Given the description of an element on the screen output the (x, y) to click on. 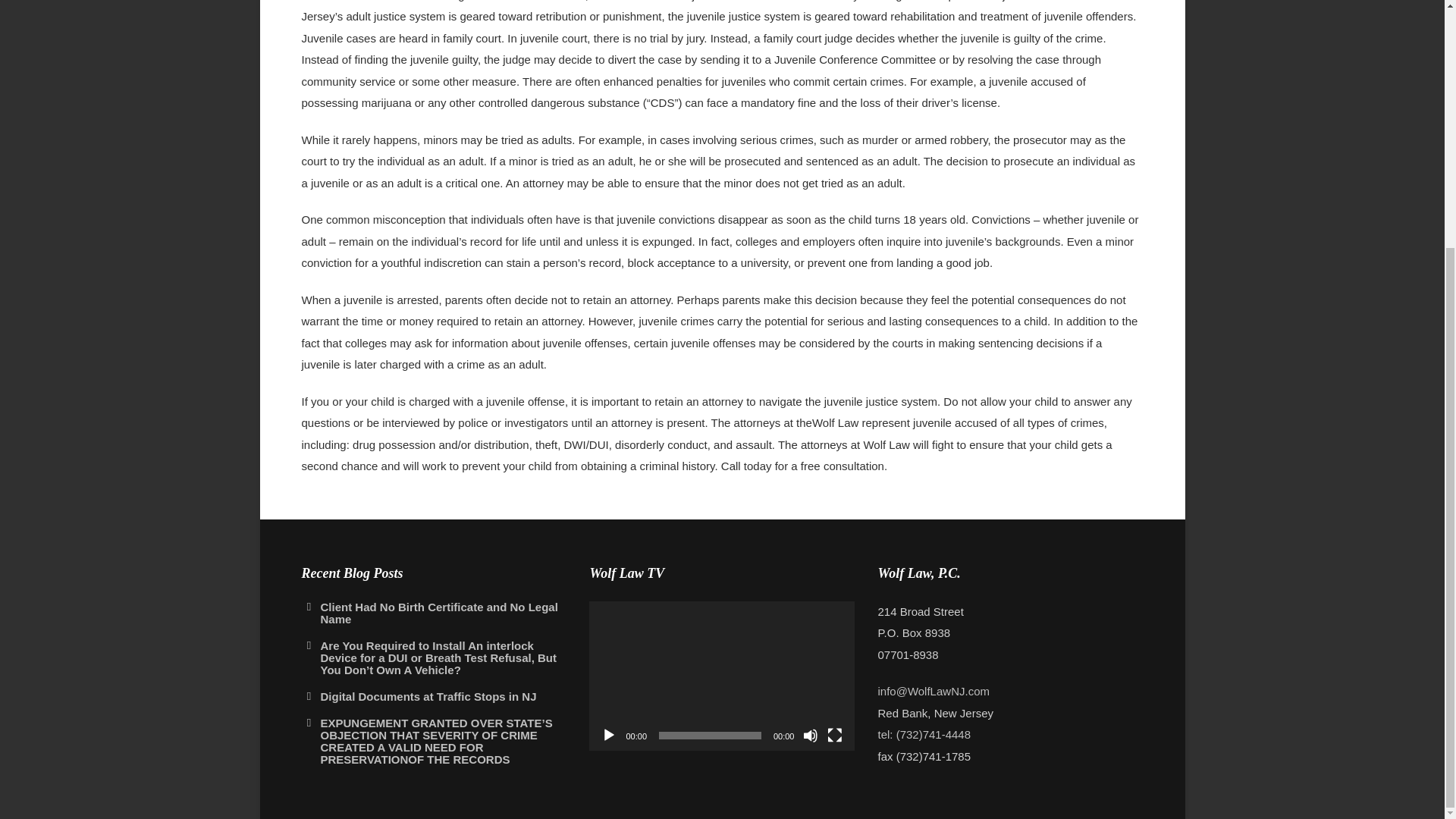
Fullscreen (835, 735)
Mute (810, 735)
Play (608, 735)
